Given the description of an element on the screen output the (x, y) to click on. 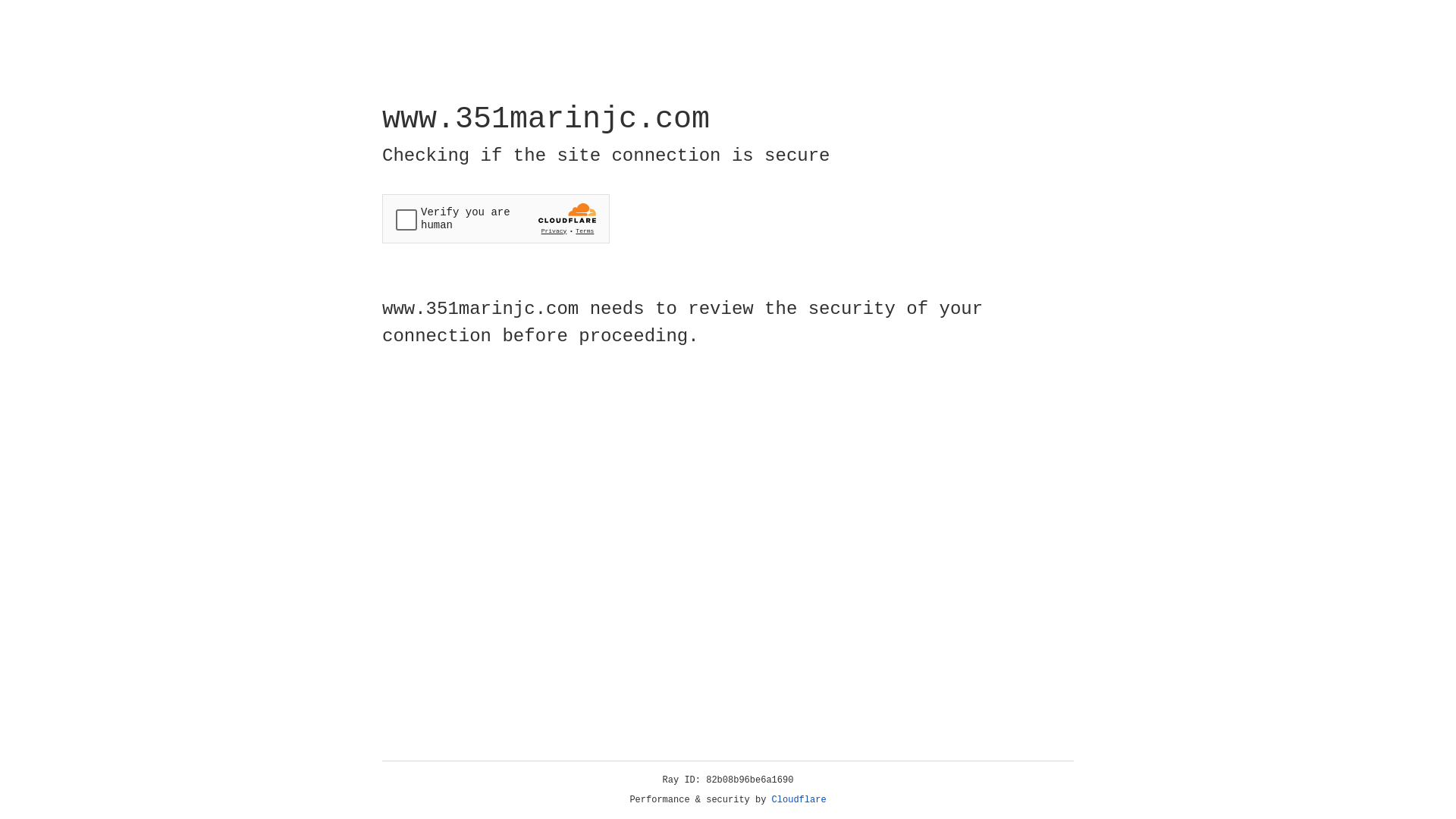
Widget containing a Cloudflare security challenge Element type: hover (495, 218)
Cloudflare Element type: text (798, 799)
